Given the description of an element on the screen output the (x, y) to click on. 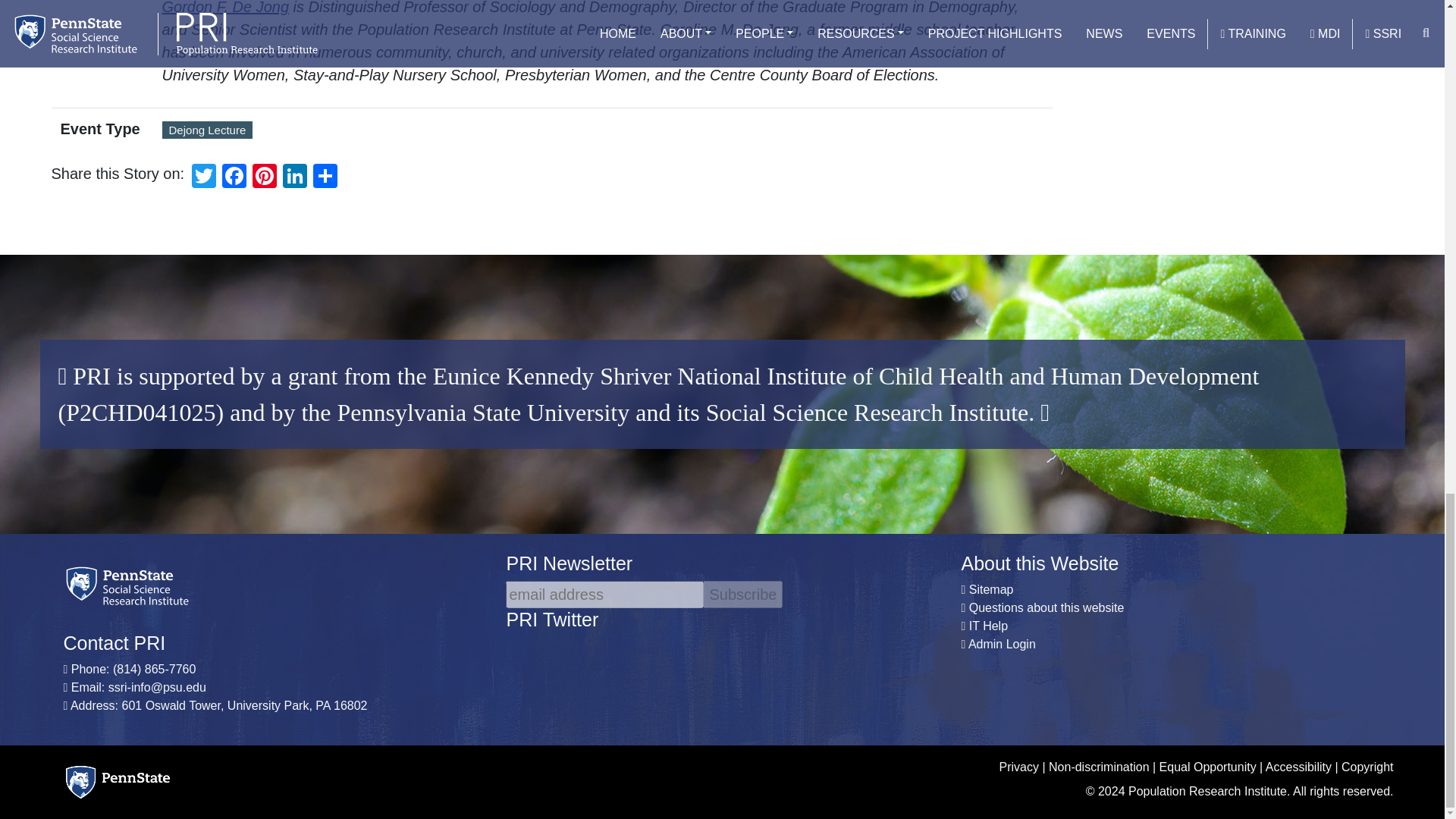
email address (604, 594)
Sitemap (991, 589)
IT Help (988, 625)
Email (156, 686)
Contact Webmaster (1046, 607)
Google Map (243, 705)
Subscribe (743, 594)
Penn State (117, 782)
Admin Login (1001, 644)
